Given the description of an element on the screen output the (x, y) to click on. 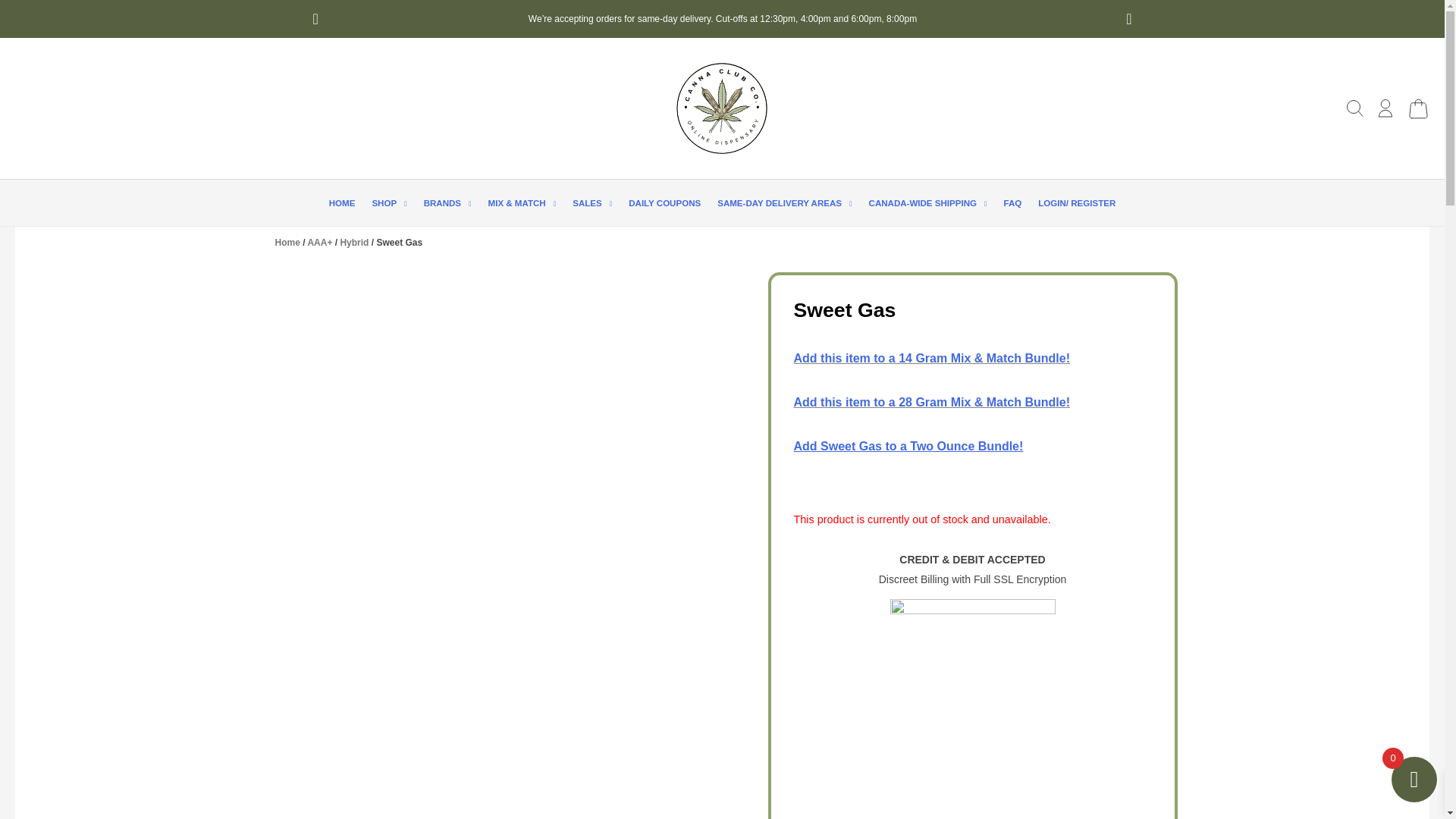
HOME (342, 203)
View your shopping cart (1418, 116)
SHOP (388, 203)
